Given the description of an element on the screen output the (x, y) to click on. 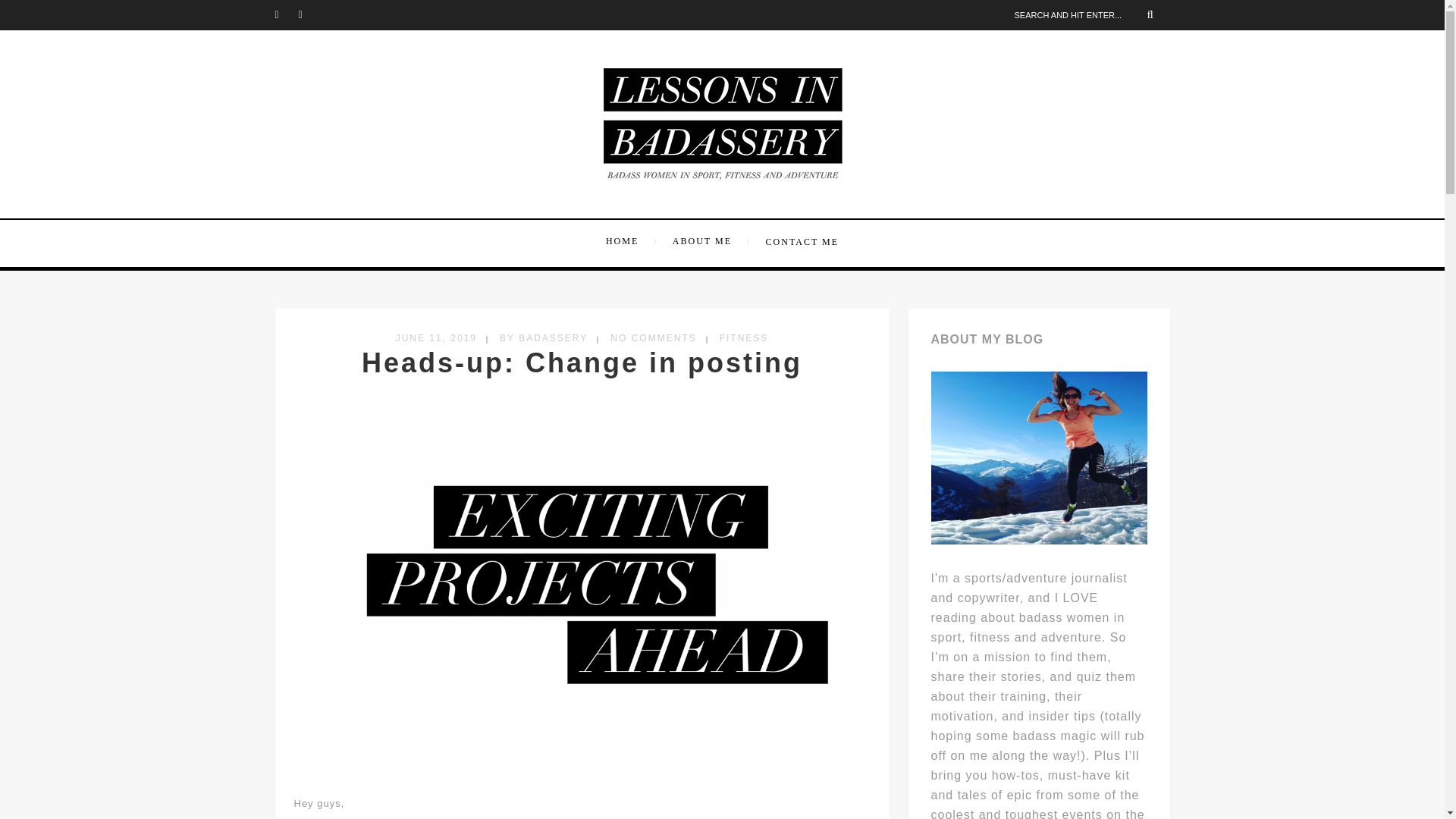
Heads-up: Change in posting (581, 362)
BY BADASSERY (543, 337)
NO COMMENTS (652, 337)
JUNE 11, 2019 (436, 337)
Permanent Link to Heads-up: Change in posting (581, 362)
FITNESS (743, 337)
Search and hit enter... (1088, 14)
HOME (633, 241)
ABOUT ME (709, 241)
CONTACT ME (799, 241)
